Given the description of an element on the screen output the (x, y) to click on. 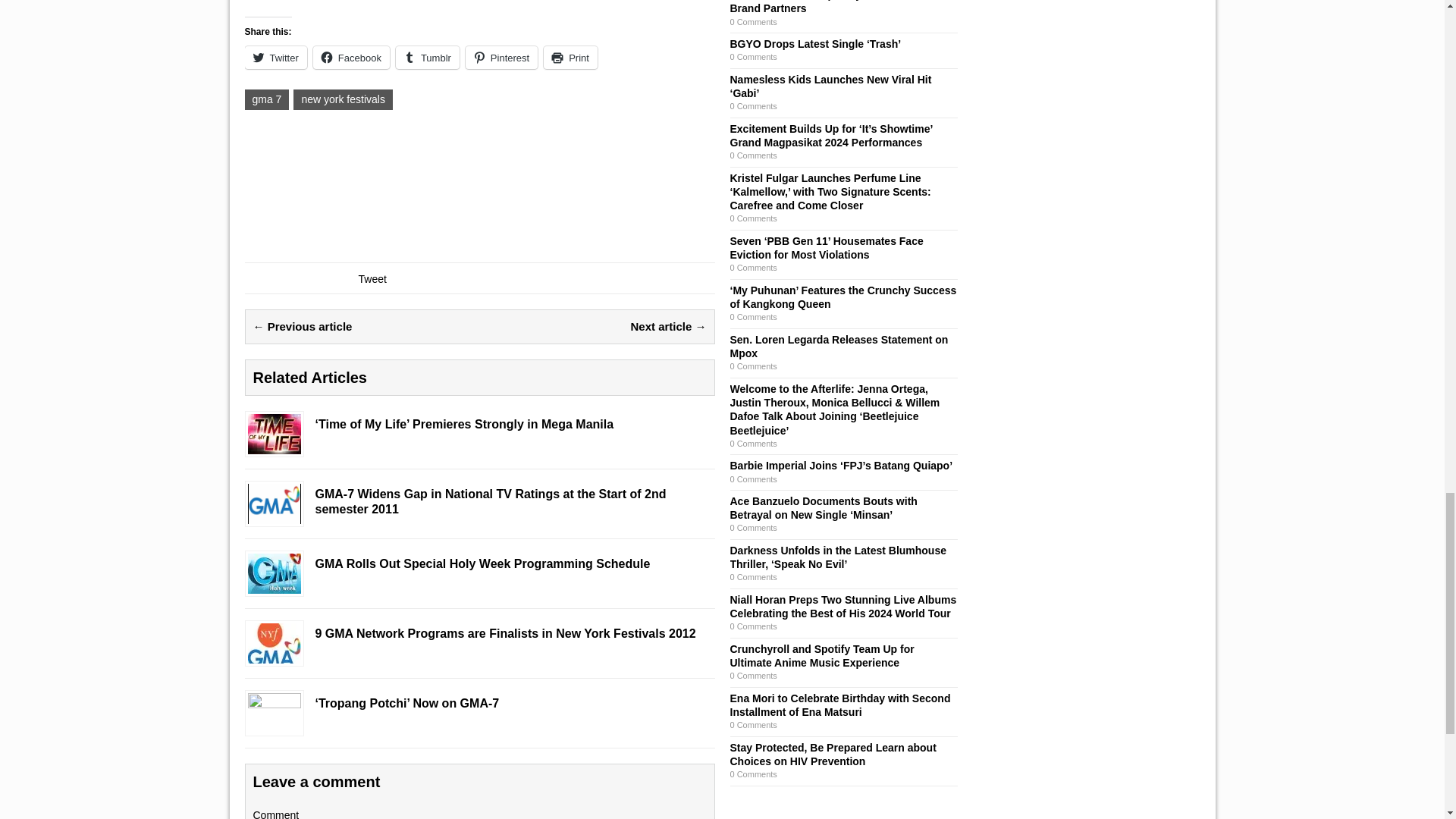
Print (569, 56)
Click to share on Facebook (351, 56)
gma 7 (266, 98)
Click to print (569, 56)
Tumblr (428, 56)
Tweet (371, 278)
Click to share on Tumblr (428, 56)
Pinterest (501, 56)
Twitter (274, 56)
Click to share on Pinterest (501, 56)
